Given the description of an element on the screen output the (x, y) to click on. 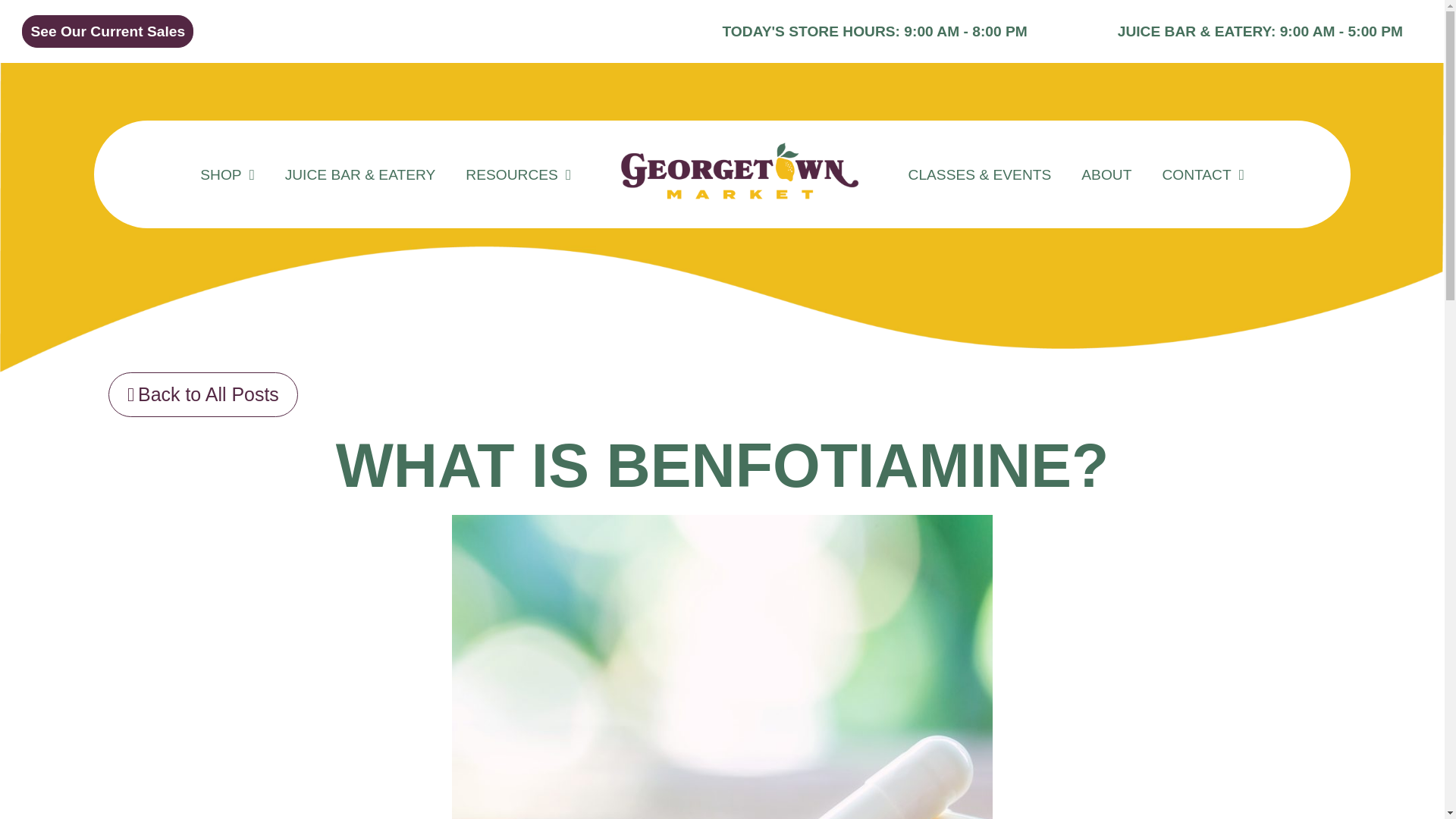
RESOURCES (517, 174)
See Our Current Sales (107, 31)
ABOUT (1106, 174)
SHOP (226, 174)
CONTACT (1203, 174)
